Given the description of an element on the screen output the (x, y) to click on. 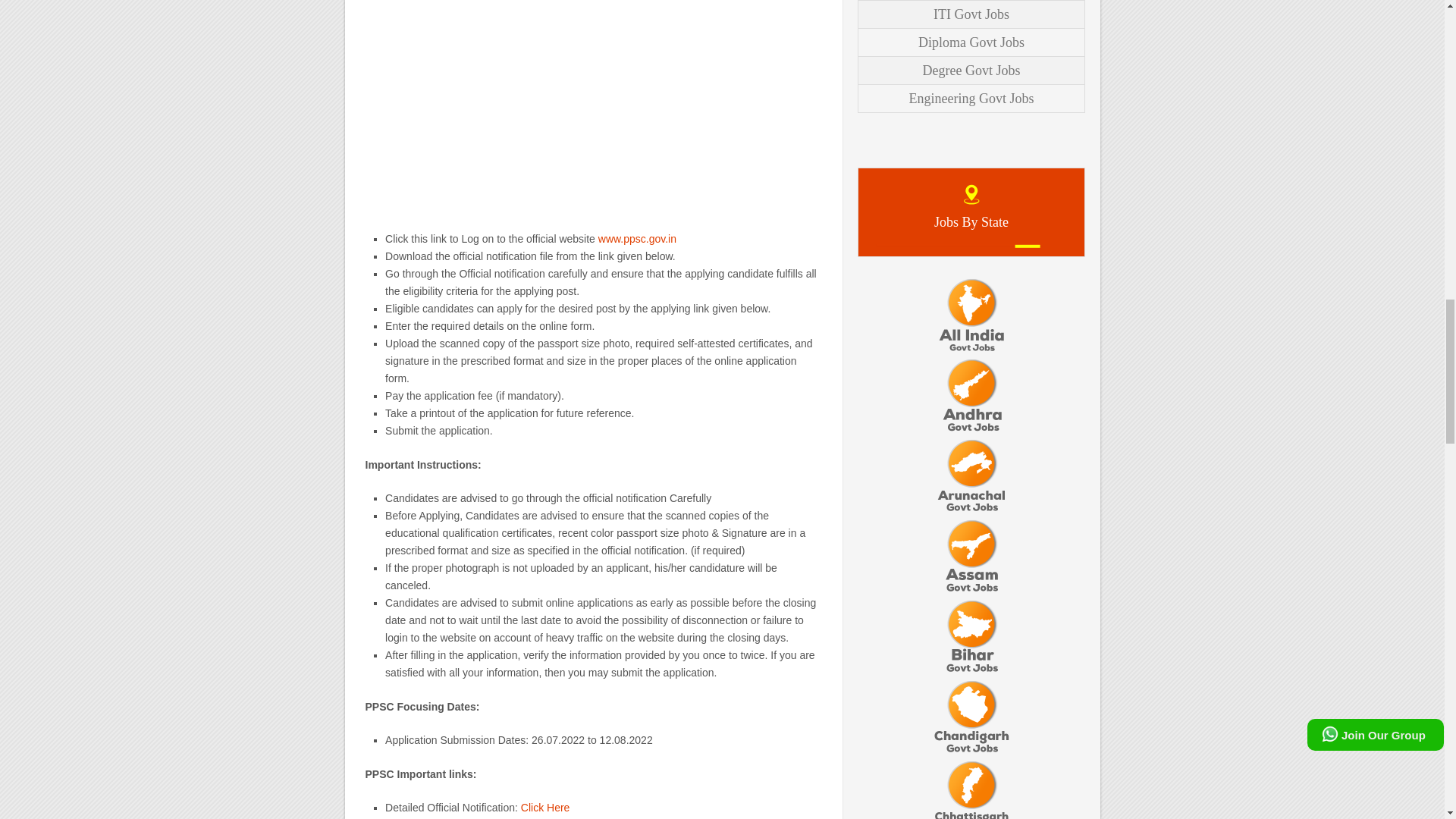
Click Here (545, 807)
www.ppsc.gov.in (637, 238)
Advertisement (593, 108)
